Given the description of an element on the screen output the (x, y) to click on. 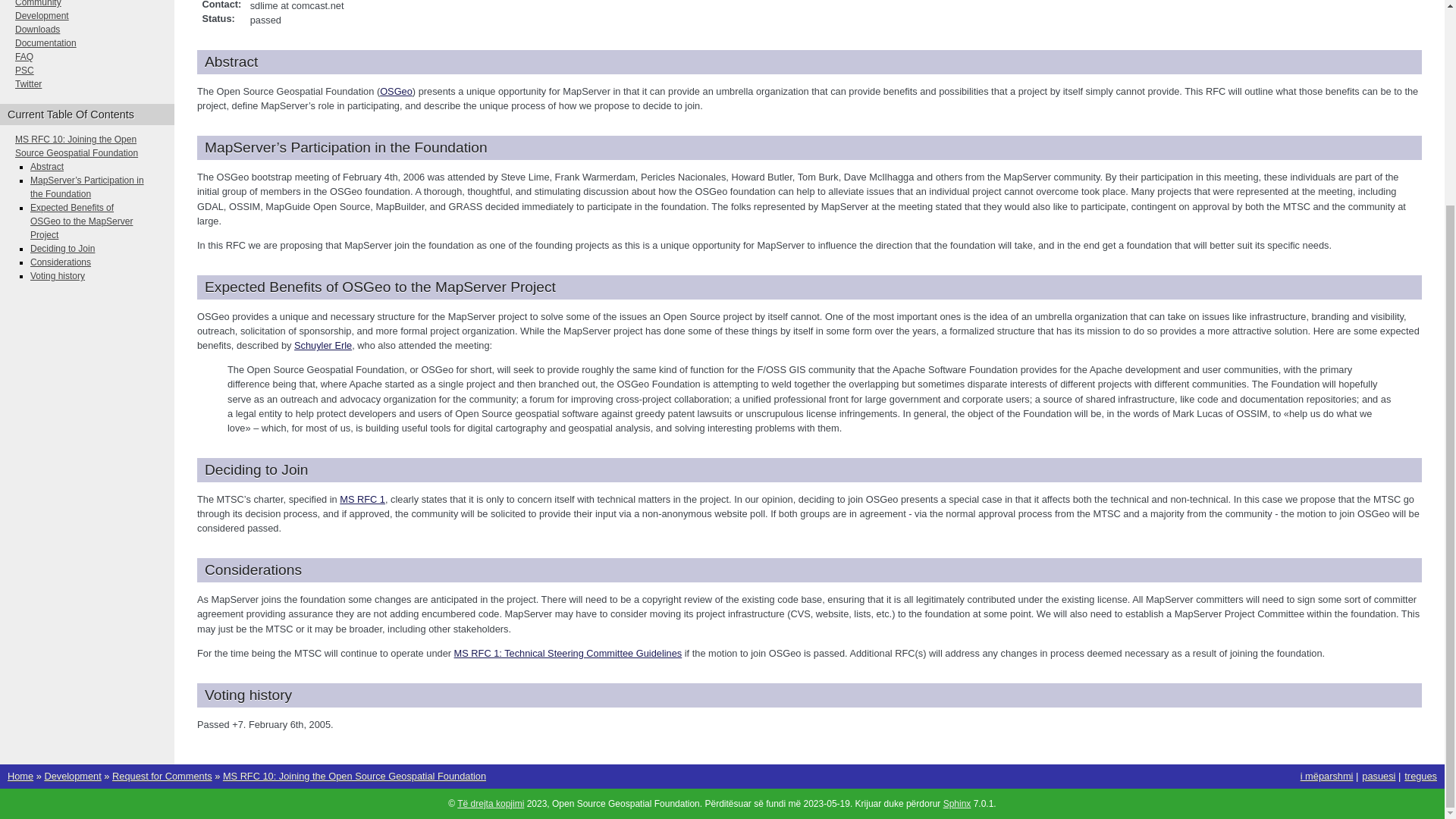
MS RFC 1 (362, 499)
Schuyler Erle (323, 345)
MS RFC 1: Technical Steering Committee Guidelines (568, 653)
OSGeo (396, 91)
